Given the description of an element on the screen output the (x, y) to click on. 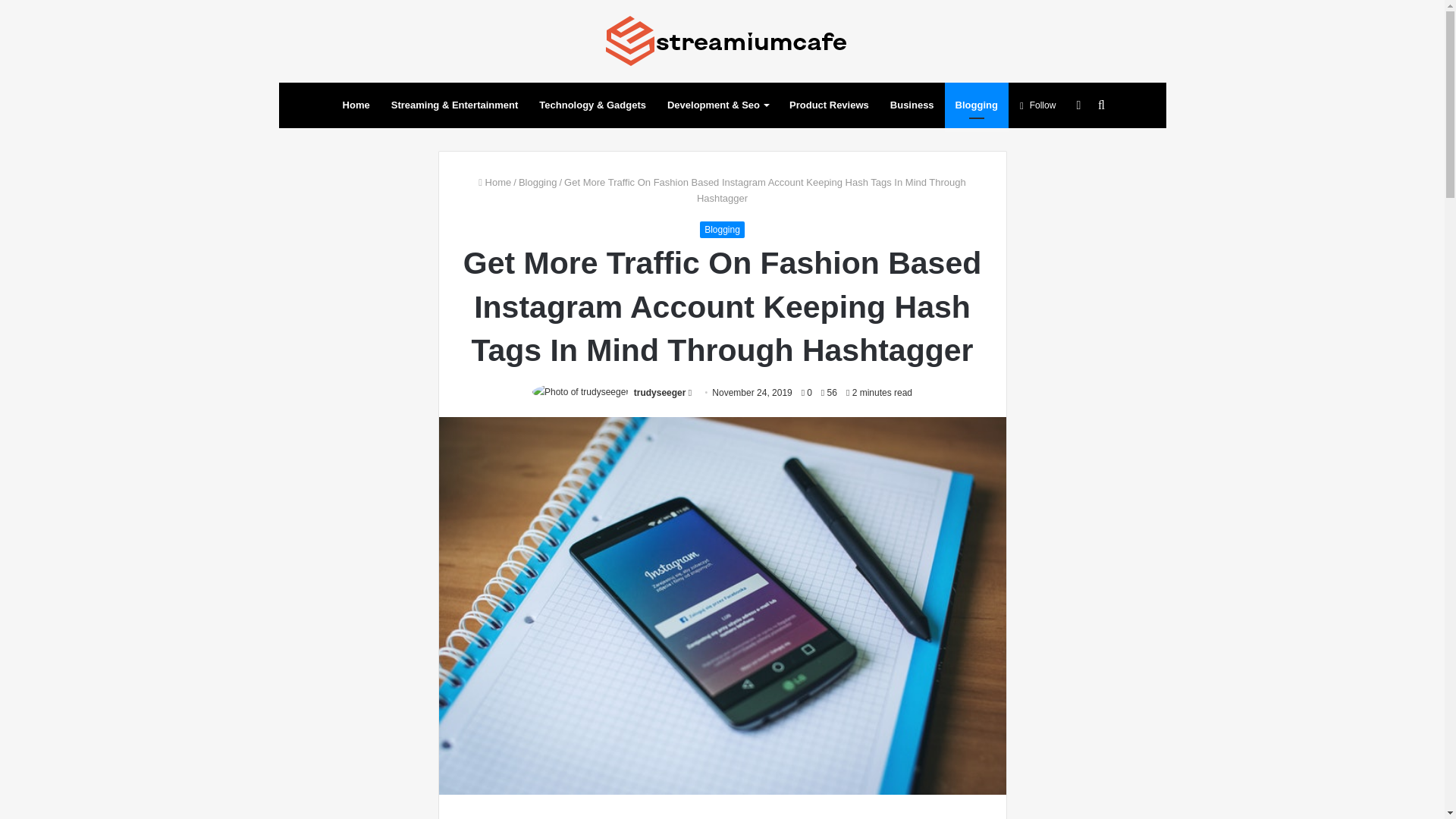
Blogging (537, 182)
Home (495, 182)
Blogging (722, 229)
trudyseeger (659, 392)
trudyseeger (659, 392)
Streamium Cafe (722, 41)
Home (355, 104)
Product Reviews (828, 104)
Follow (1038, 104)
Business (911, 104)
Blogging (976, 104)
